Given the description of an element on the screen output the (x, y) to click on. 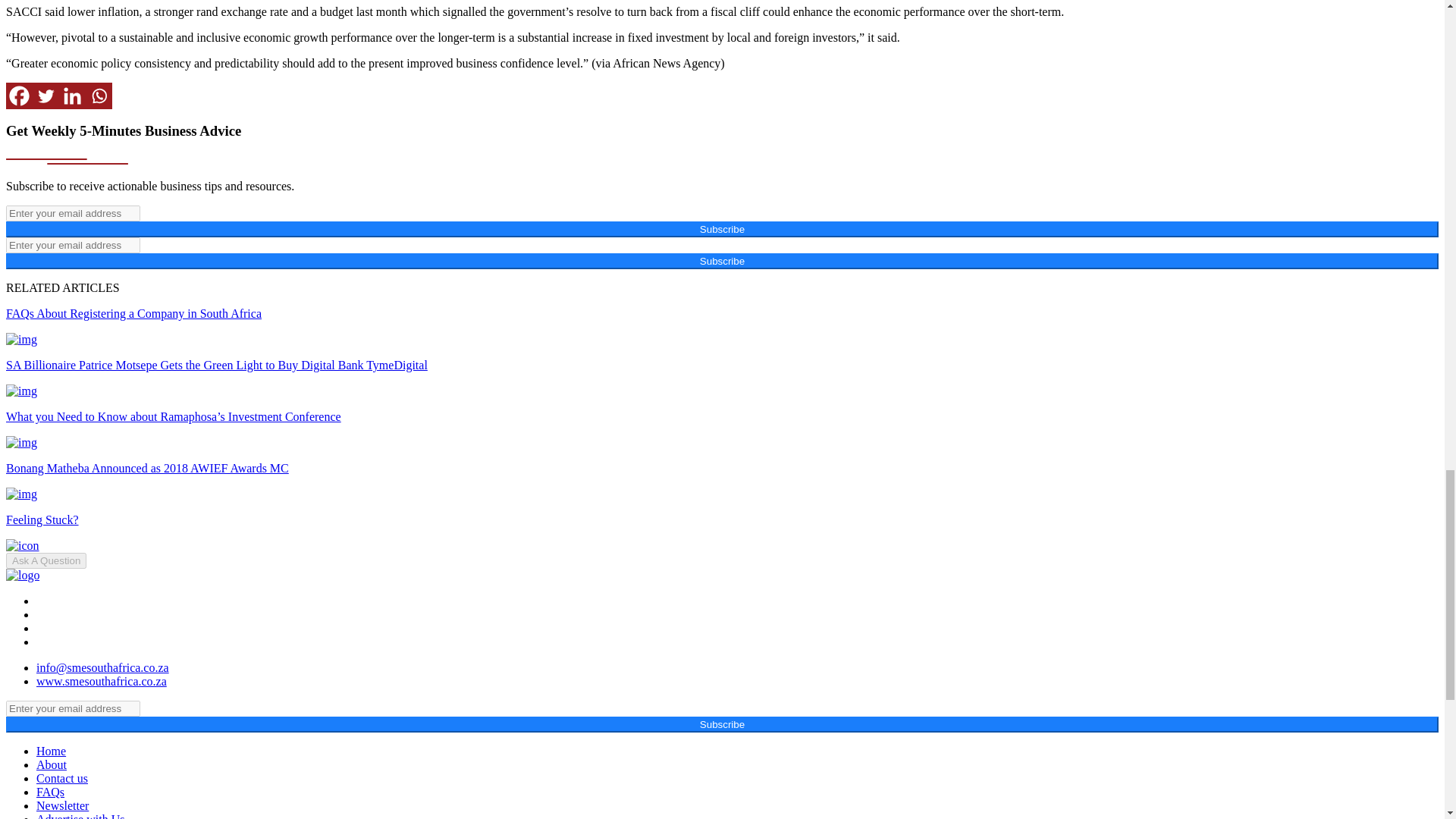
Whatsapp (98, 95)
Facebook (18, 95)
Linkedin (72, 95)
Twitter (45, 95)
Ask A Question (45, 560)
